Given the description of an element on the screen output the (x, y) to click on. 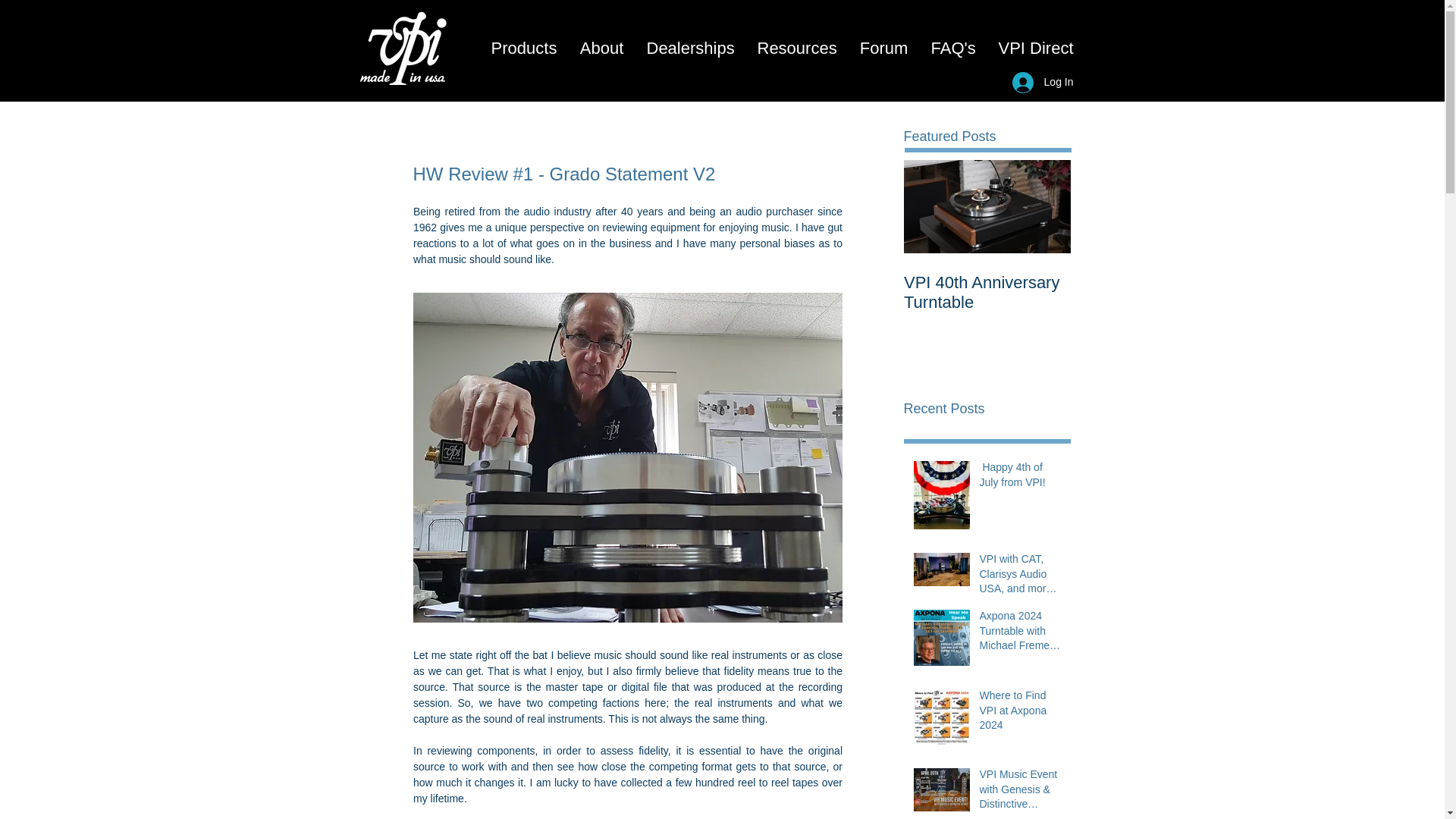
Products (523, 48)
VPI Direct (1035, 48)
Axpona 2024 Turntable with Michael Fremer and VPI (1020, 634)
Dealerships (689, 48)
About (601, 48)
Forum (882, 48)
Where to Find VPI at Axpona 2024 (1020, 713)
Log In (1042, 82)
VPI with CAT, Clarisys Audio USA, and more at Axponas 2024 (1020, 577)
 Happy 4th of July from VPI! (1020, 478)
Resources (796, 48)
VPI 40th Anniversary Turntable (987, 266)
VPI 40th Anniversary Turntable (987, 292)
FAQ's (952, 48)
VPI 40th Anniversary Turntable (987, 266)
